Given the description of an element on the screen output the (x, y) to click on. 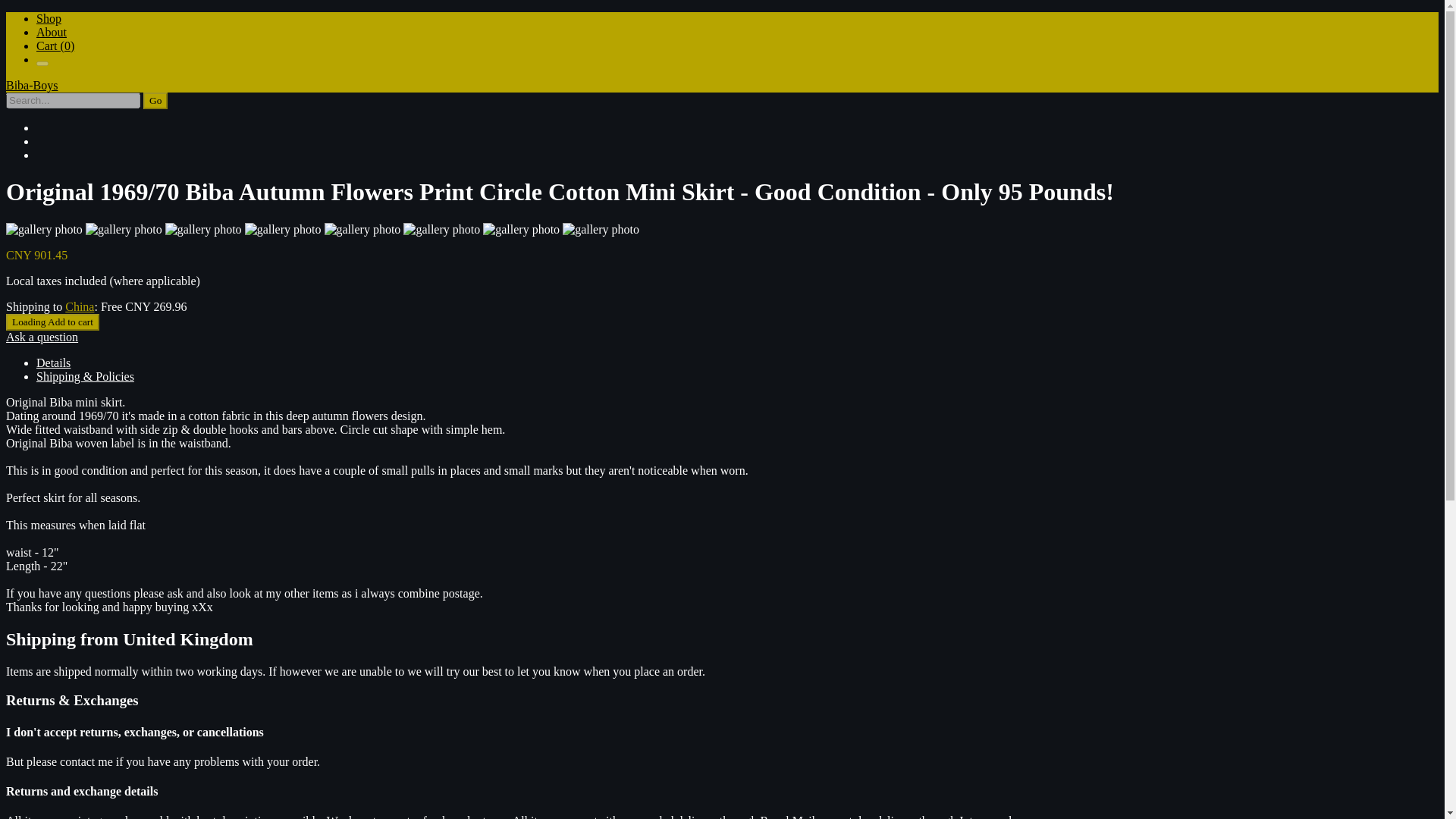
China (79, 306)
Loading Add to cart (52, 321)
Details (52, 362)
Go (154, 100)
Go (154, 100)
Ask a question (41, 336)
About (51, 31)
Shop (48, 18)
